Given the description of an element on the screen output the (x, y) to click on. 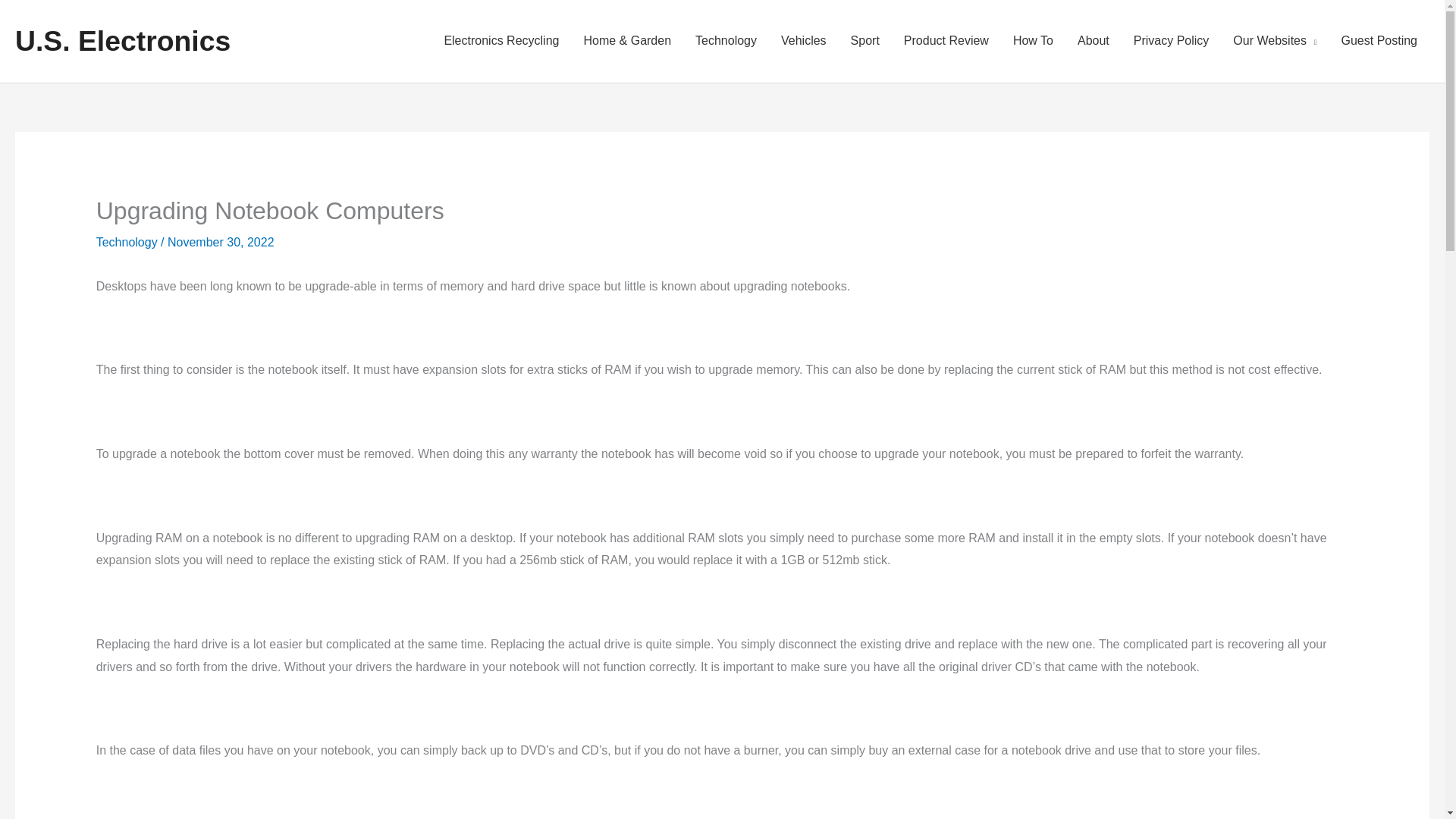
Vehicles (803, 40)
Sport (864, 40)
Electronics Recycling (500, 40)
Our Websites (1274, 40)
About (1093, 40)
U.S. Electronics (122, 40)
Technology (126, 241)
How To (1033, 40)
Product Review (946, 40)
Privacy Policy (1171, 40)
